Given the description of an element on the screen output the (x, y) to click on. 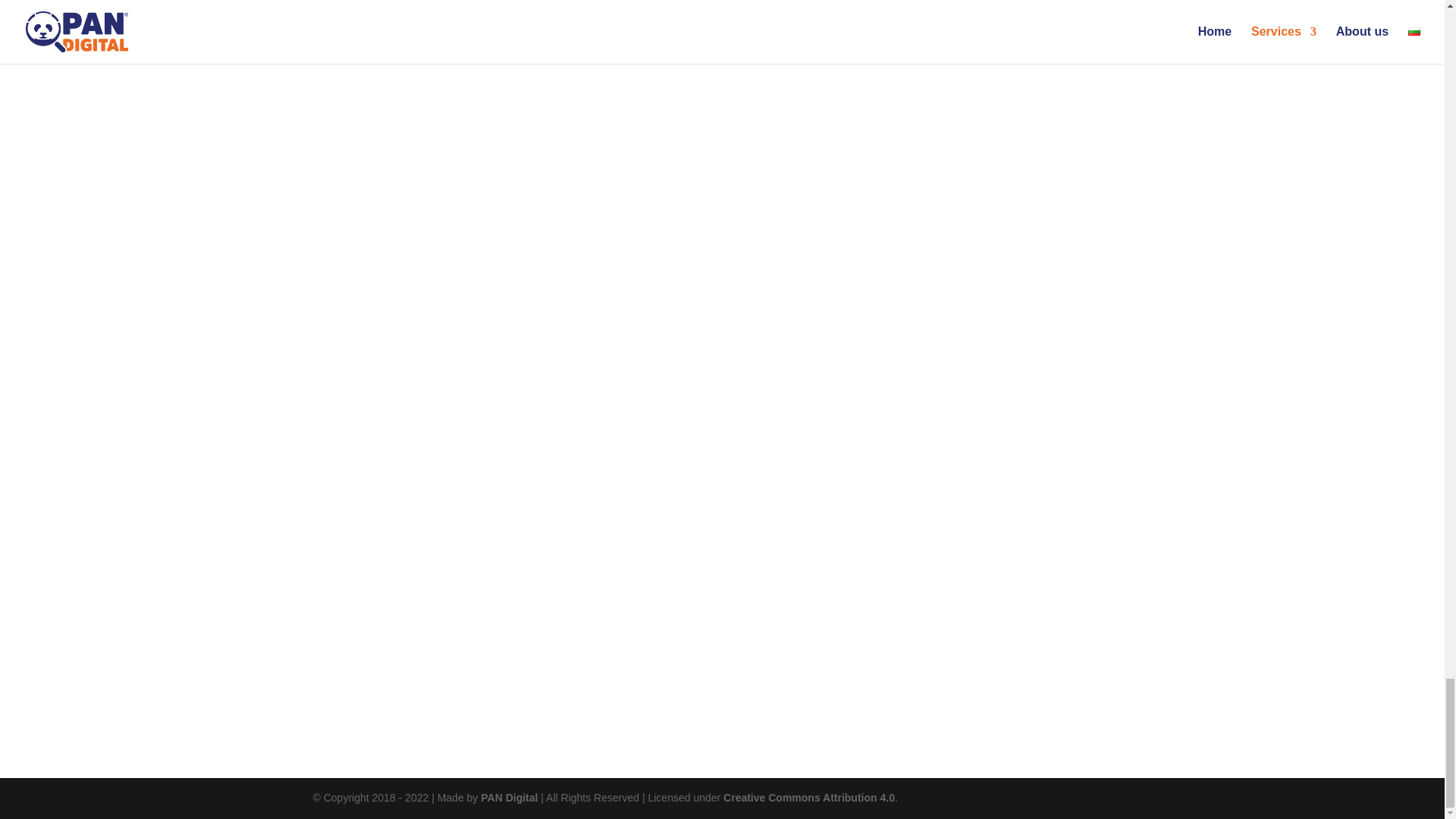
PAN Digital (508, 797)
submit (548, 637)
Creative Commons Attribution 4.0 (809, 797)
